Given the description of an element on the screen output the (x, y) to click on. 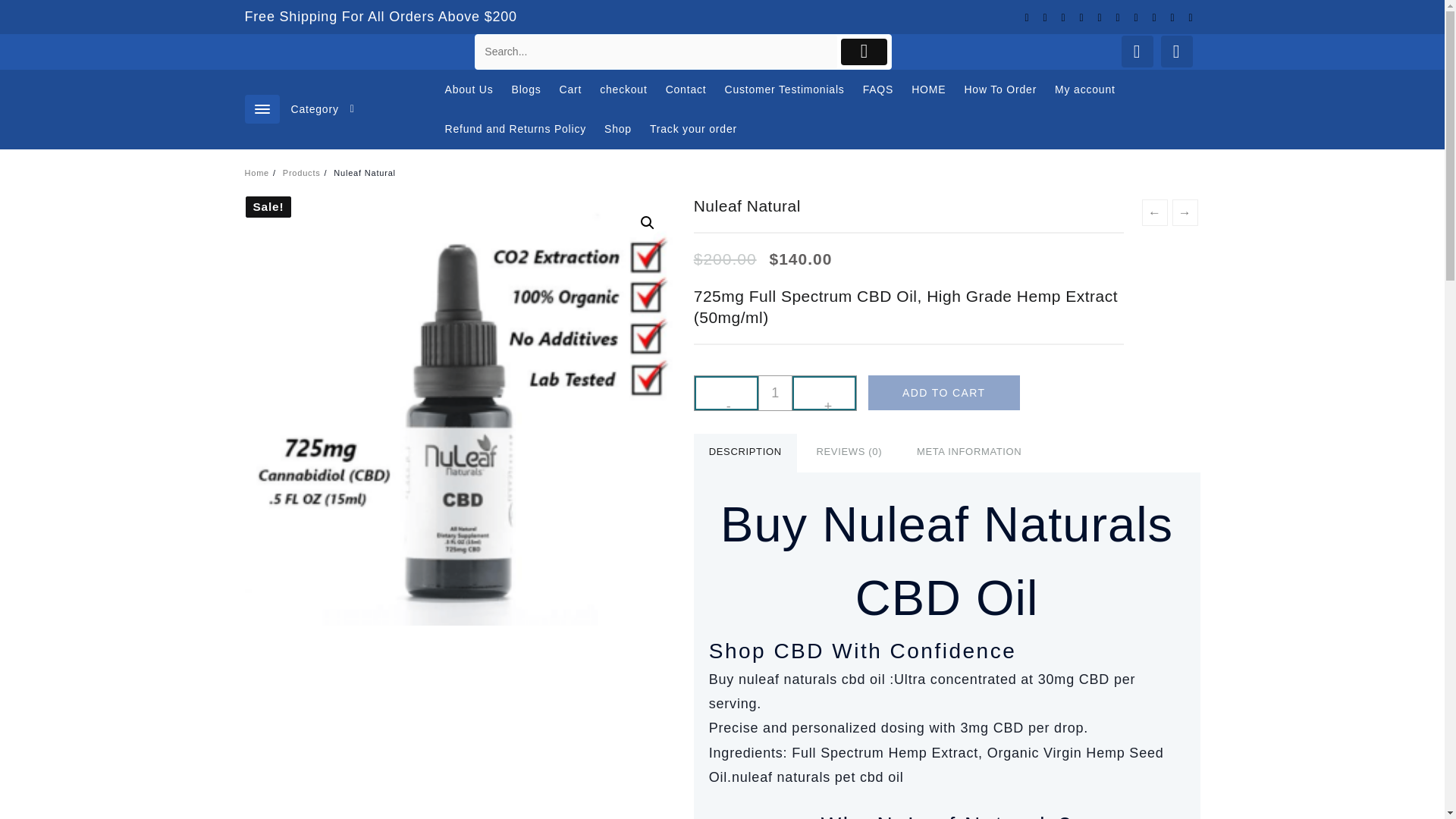
Search (655, 51)
1 (775, 392)
Submit (863, 51)
